Given the description of an element on the screen output the (x, y) to click on. 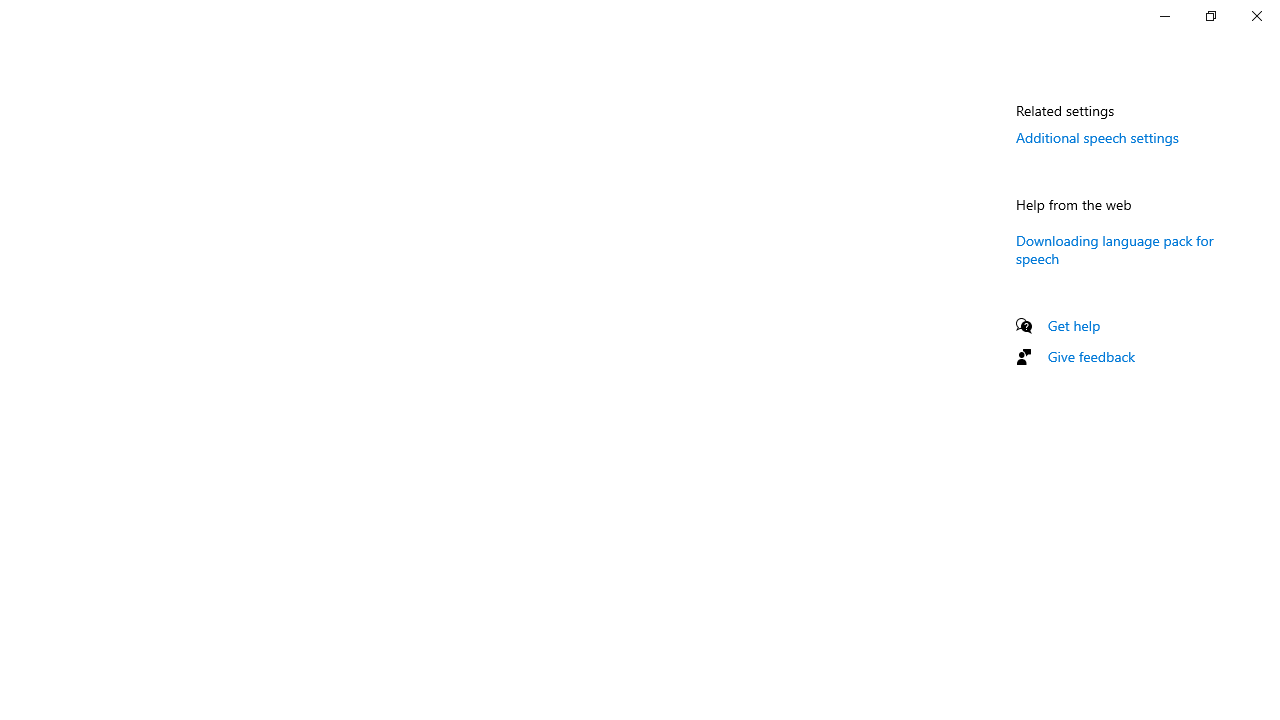
Additional speech settings (1097, 137)
Downloading language pack for speech (1114, 248)
